Given the description of an element on the screen output the (x, y) to click on. 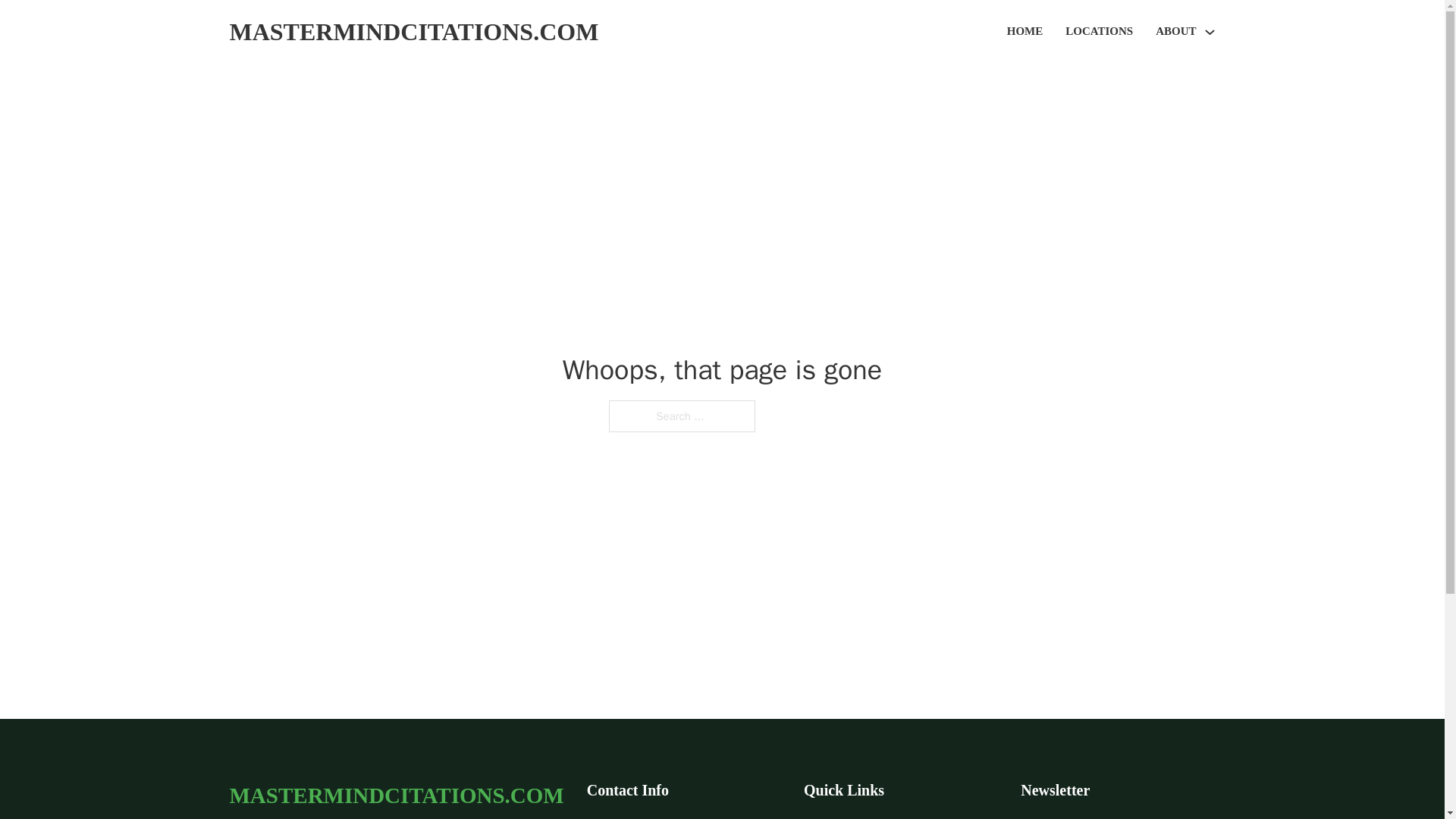
MASTERMINDCITATIONS.COM (395, 795)
MASTERMINDCITATIONS.COM (413, 31)
LOCATIONS (1098, 31)
HOME (1025, 31)
